Given the description of an element on the screen output the (x, y) to click on. 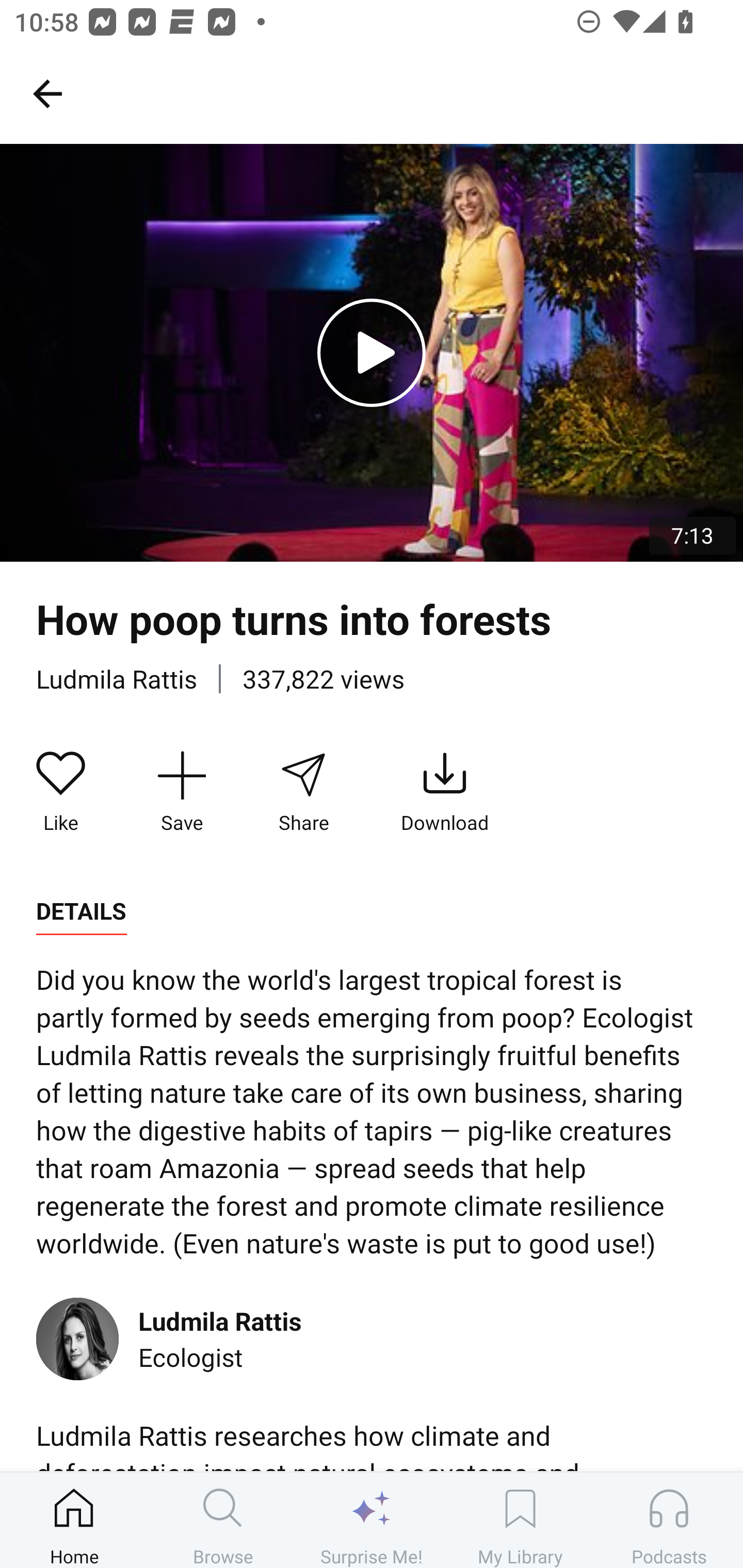
Home, back (47, 92)
Like (60, 793)
Save (181, 793)
Share (302, 793)
Download (444, 793)
DETAILS (80, 911)
Home (74, 1520)
Browse (222, 1520)
Surprise Me! (371, 1520)
My Library (519, 1520)
Podcasts (668, 1520)
